Given the description of an element on the screen output the (x, y) to click on. 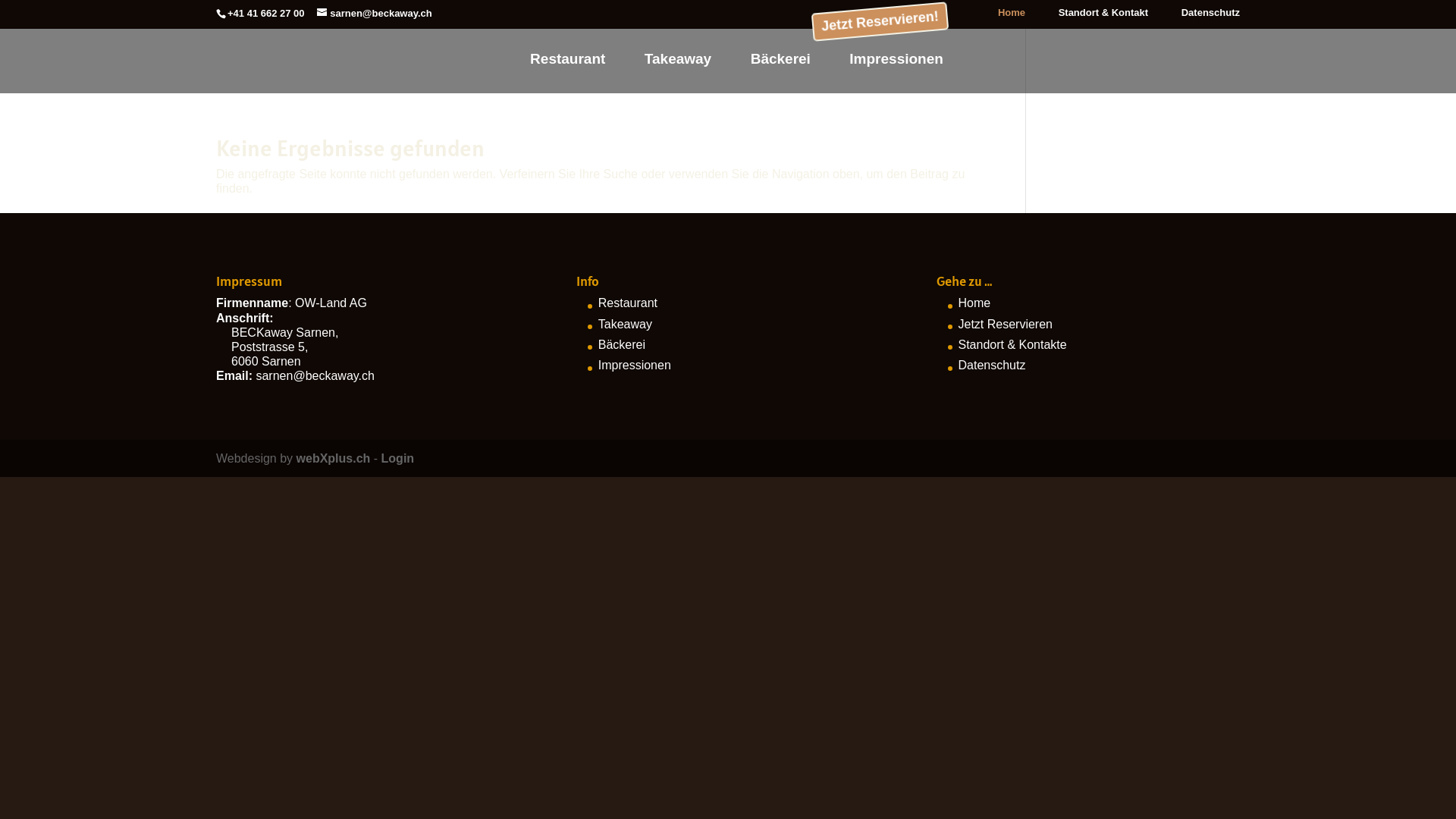
Impressionen Element type: text (896, 70)
Jetzt Reservieren! Element type: text (879, 16)
webXplus.ch Element type: text (333, 457)
Datenschutz Element type: text (1210, 16)
Login Element type: text (397, 457)
Datenschutz Element type: text (992, 364)
Restaurant Element type: text (567, 70)
Impressionen Element type: text (634, 364)
Restaurant Element type: text (627, 302)
Home Element type: text (974, 302)
Standort & Kontakte Element type: text (1012, 344)
sarnen@beckaway.ch Element type: text (374, 12)
Standort & Kontakt Element type: text (1103, 16)
Takeaway Element type: text (625, 323)
Jetzt Reservieren Element type: text (1005, 323)
Home Element type: text (1011, 16)
Takeaway Element type: text (677, 70)
